Given the description of an element on the screen output the (x, y) to click on. 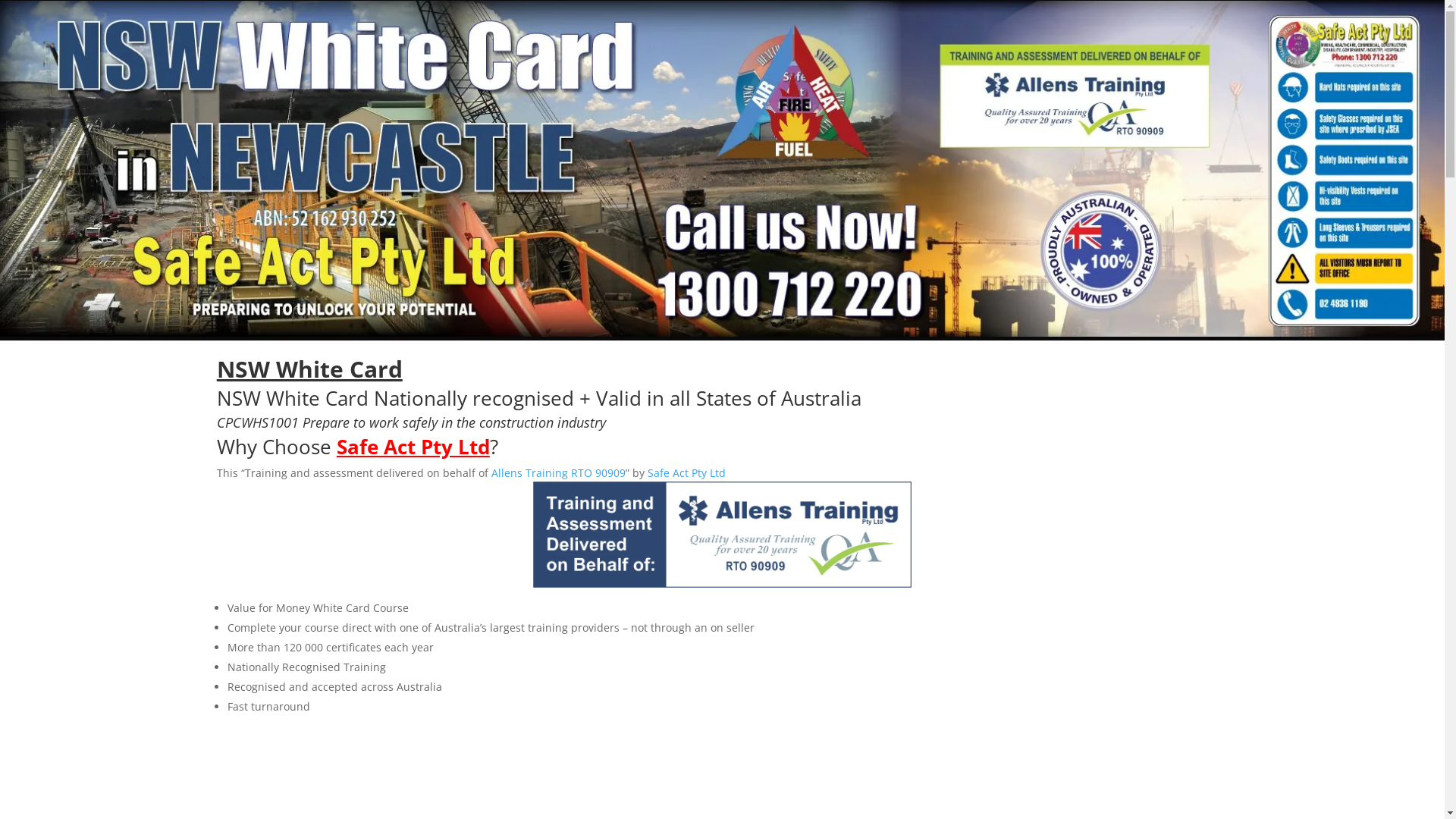
newcastle-white-card Element type: hover (722, 168)
Safe Act Pty Ltd Element type: text (412, 446)
Safe Act Pty Ltd Element type: text (686, 472)
Allens Training RTO 90909 Element type: text (558, 472)
